Given the description of an element on the screen output the (x, y) to click on. 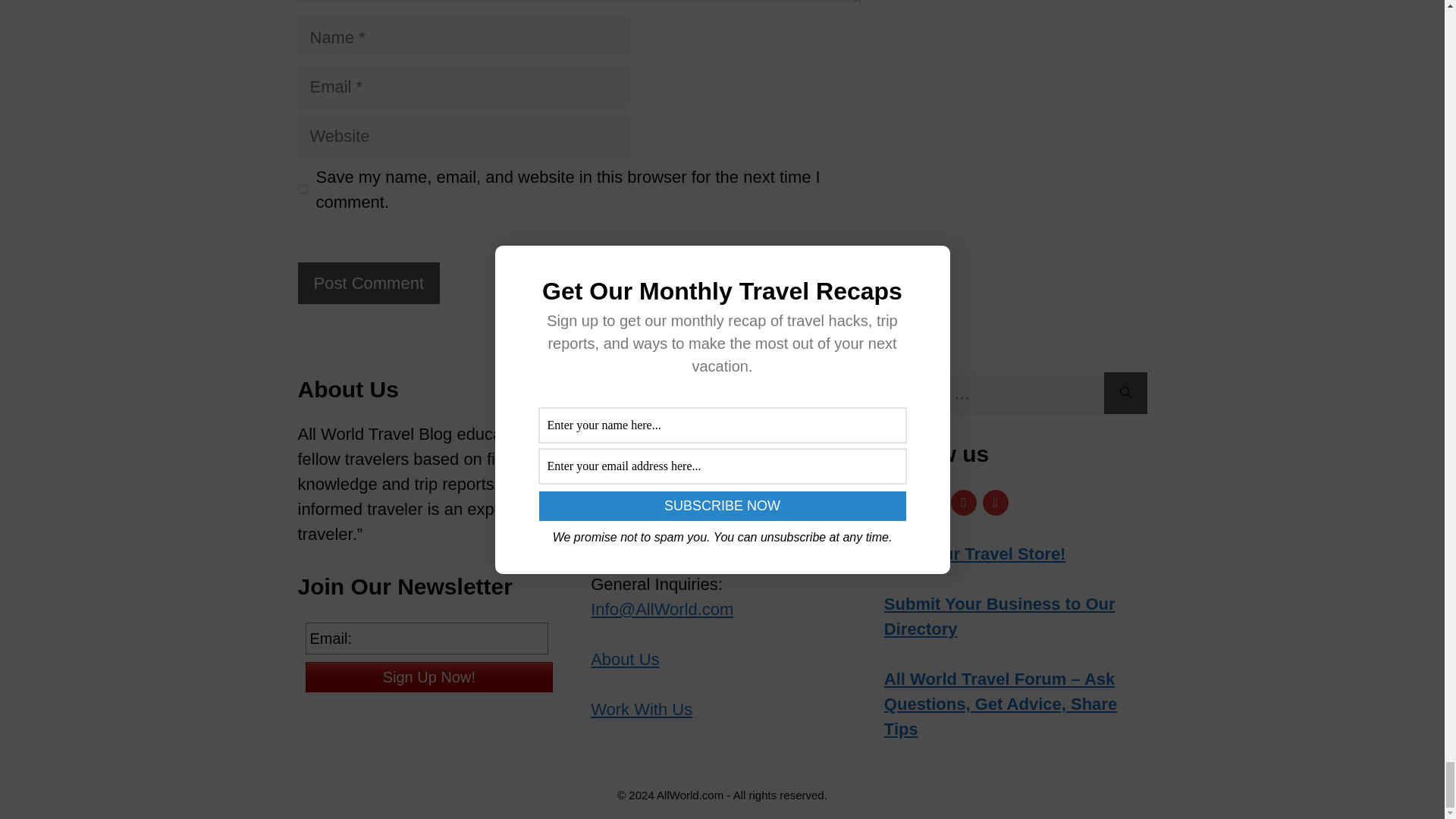
Post Comment (368, 282)
Email: (425, 638)
Sign Up Now! (428, 676)
yes (302, 189)
